Given the description of an element on the screen output the (x, y) to click on. 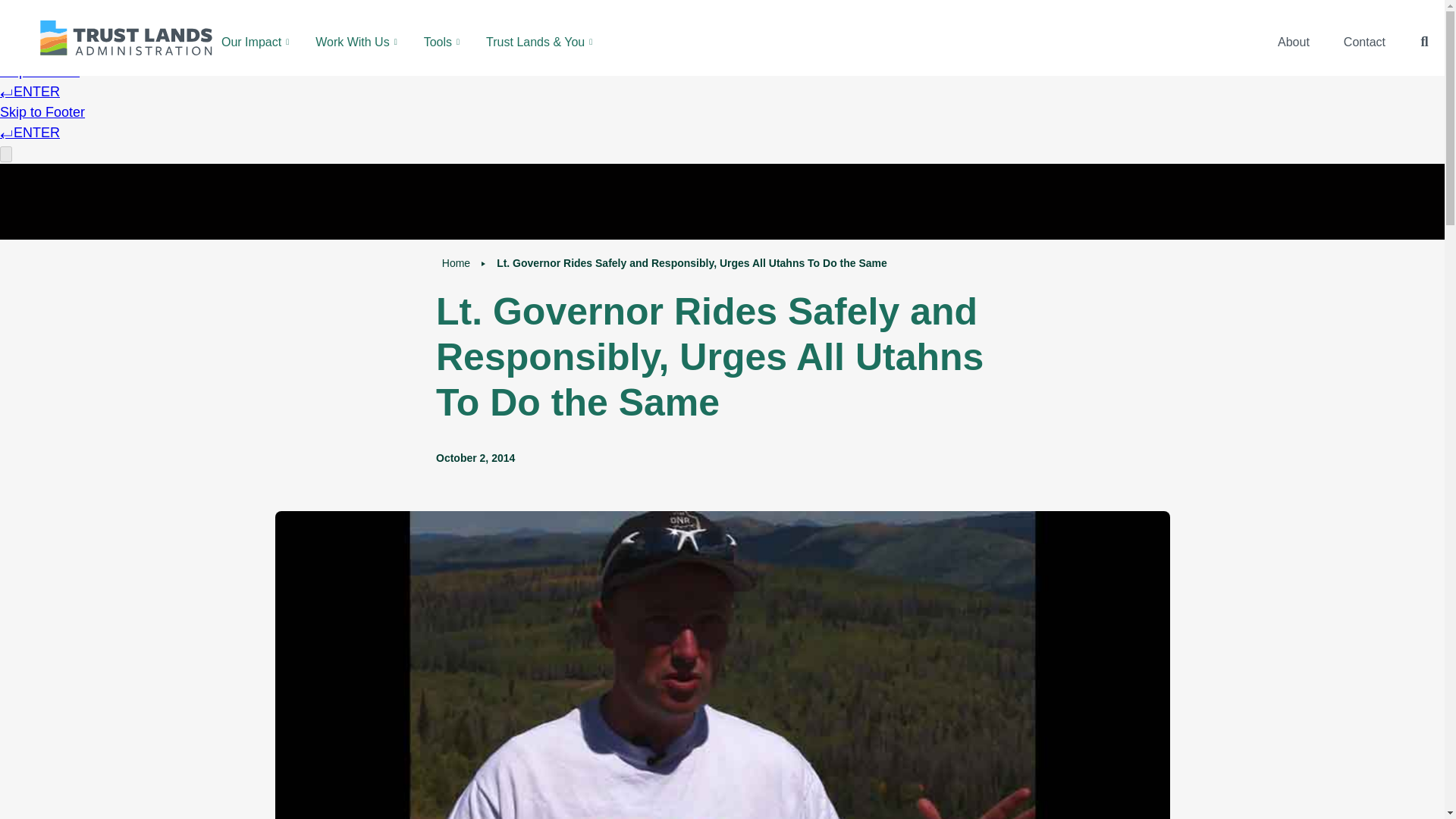
Our Impact (256, 41)
Work With Us (358, 41)
